Given the description of an element on the screen output the (x, y) to click on. 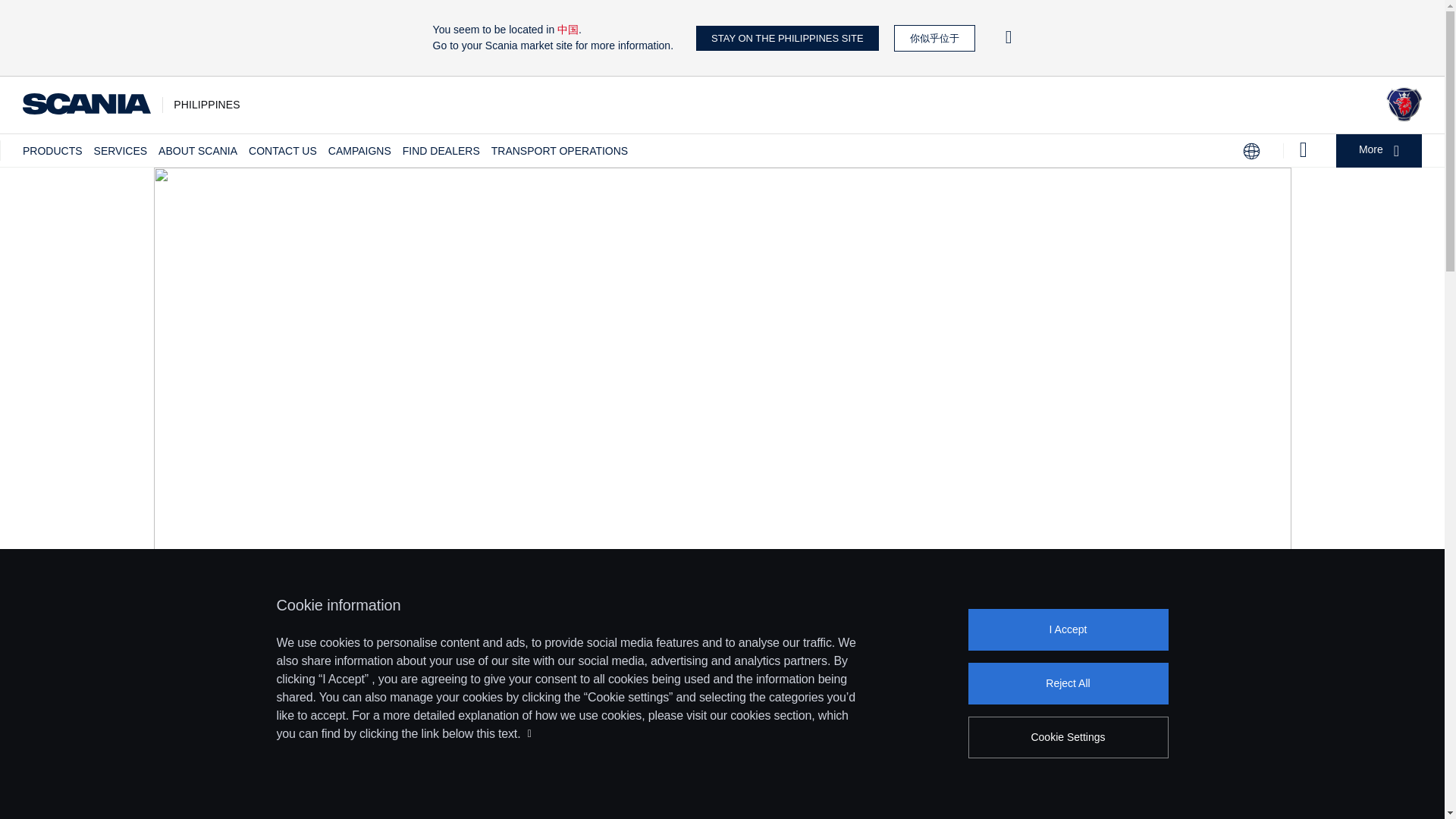
STAY ON THE PHILIPPINES SITE (787, 37)
Scania (1404, 117)
Scania (87, 104)
PRODUCTS (52, 150)
Country selector (1251, 150)
